Given the description of an element on the screen output the (x, y) to click on. 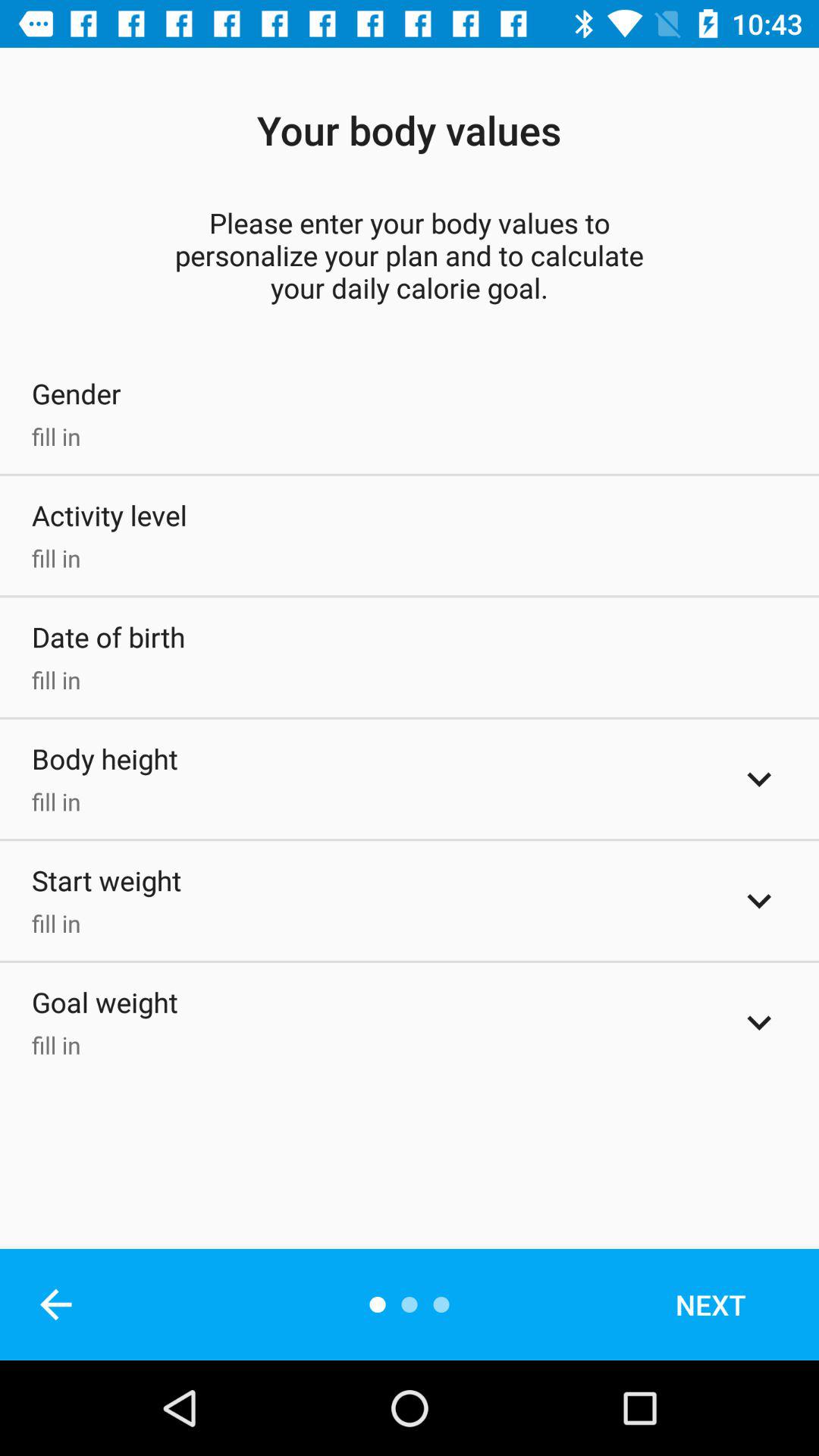
view subcategory (759, 778)
